Given the description of an element on the screen output the (x, y) to click on. 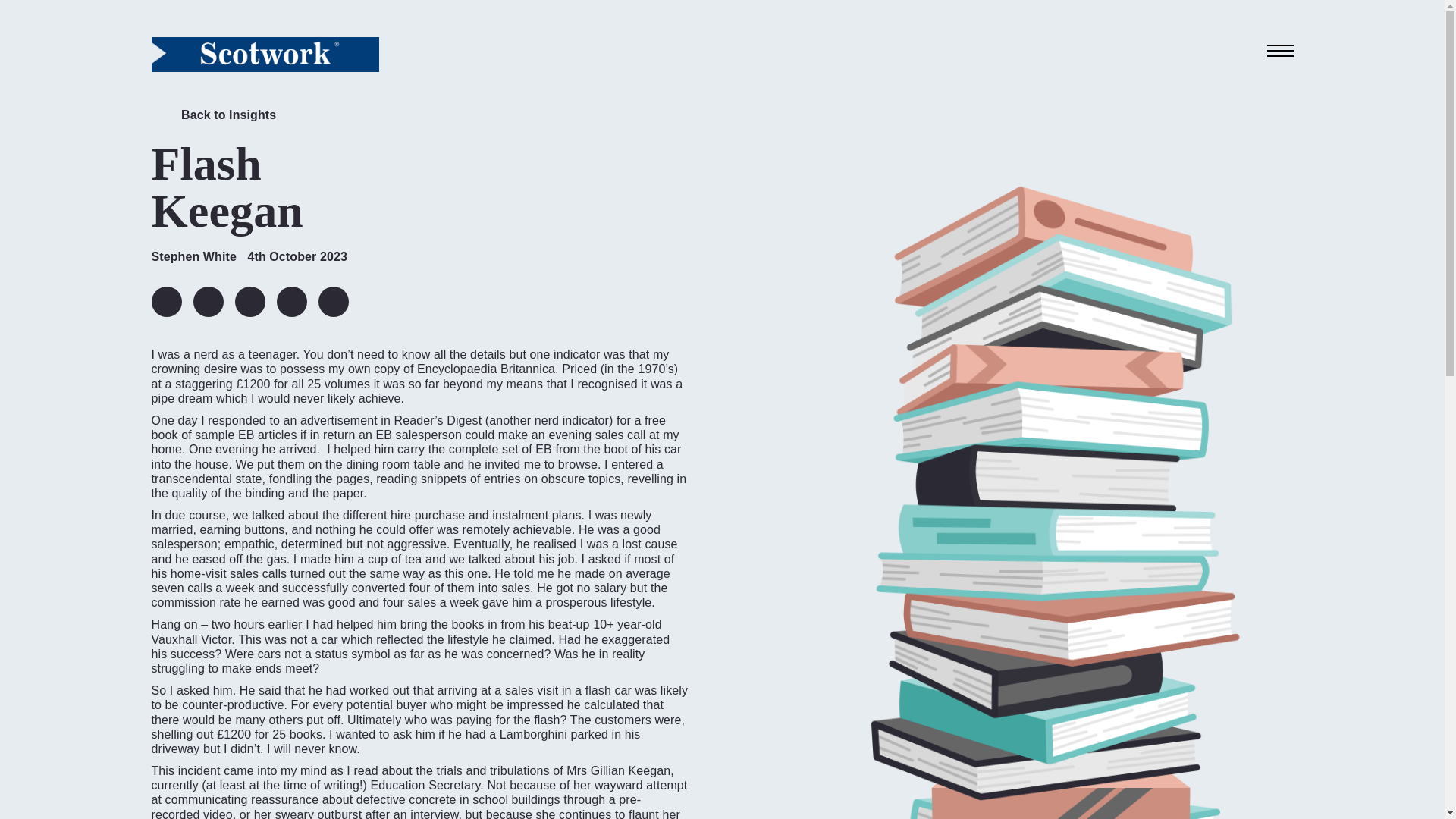
home (264, 54)
linkedin (166, 301)
facebook (249, 301)
googleplus (290, 301)
Back to Insights (213, 117)
twitter (207, 301)
Back to Insights (213, 117)
rss (333, 301)
